Given the description of an element on the screen output the (x, y) to click on. 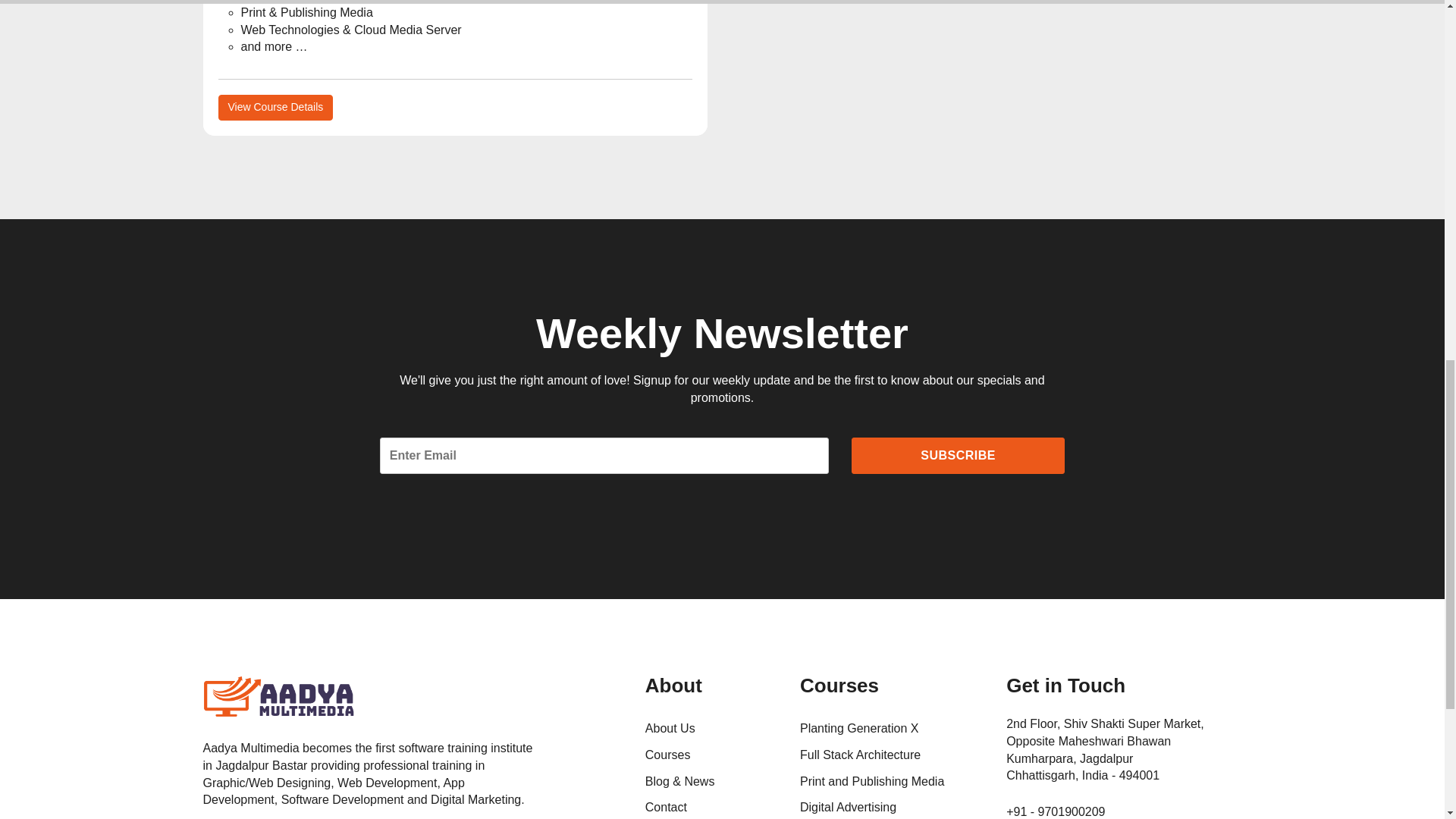
Planting Generation X (891, 728)
Print and Publishing Media (891, 782)
Subscribe (957, 456)
Full Stack Architecture (891, 755)
Subscribe (957, 456)
Courses (711, 755)
Contact (711, 806)
About Us (711, 728)
Digital Advertising (891, 806)
View Course Details (275, 107)
